Given the description of an element on the screen output the (x, y) to click on. 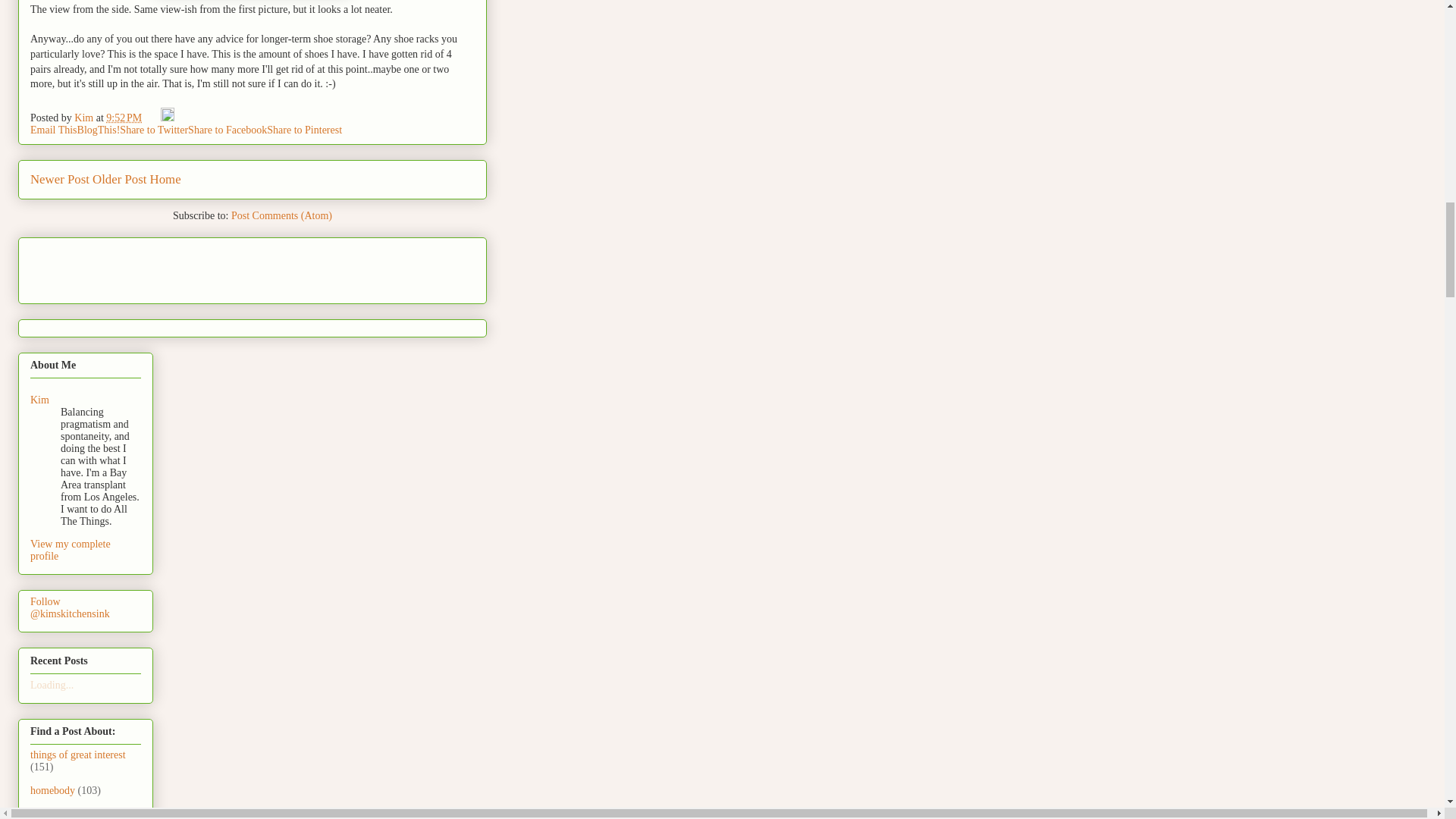
Share to Facebook (226, 129)
Email This (53, 129)
Share to Twitter (153, 129)
BlogThis! (98, 129)
Email This (53, 129)
Email Post (152, 117)
Advertisement (119, 266)
Newer Post (59, 178)
Kim (85, 117)
Share to Twitter (153, 129)
Share to Pinterest (304, 129)
author profile (85, 117)
Older Post (120, 178)
Share to Pinterest (304, 129)
